Given the description of an element on the screen output the (x, y) to click on. 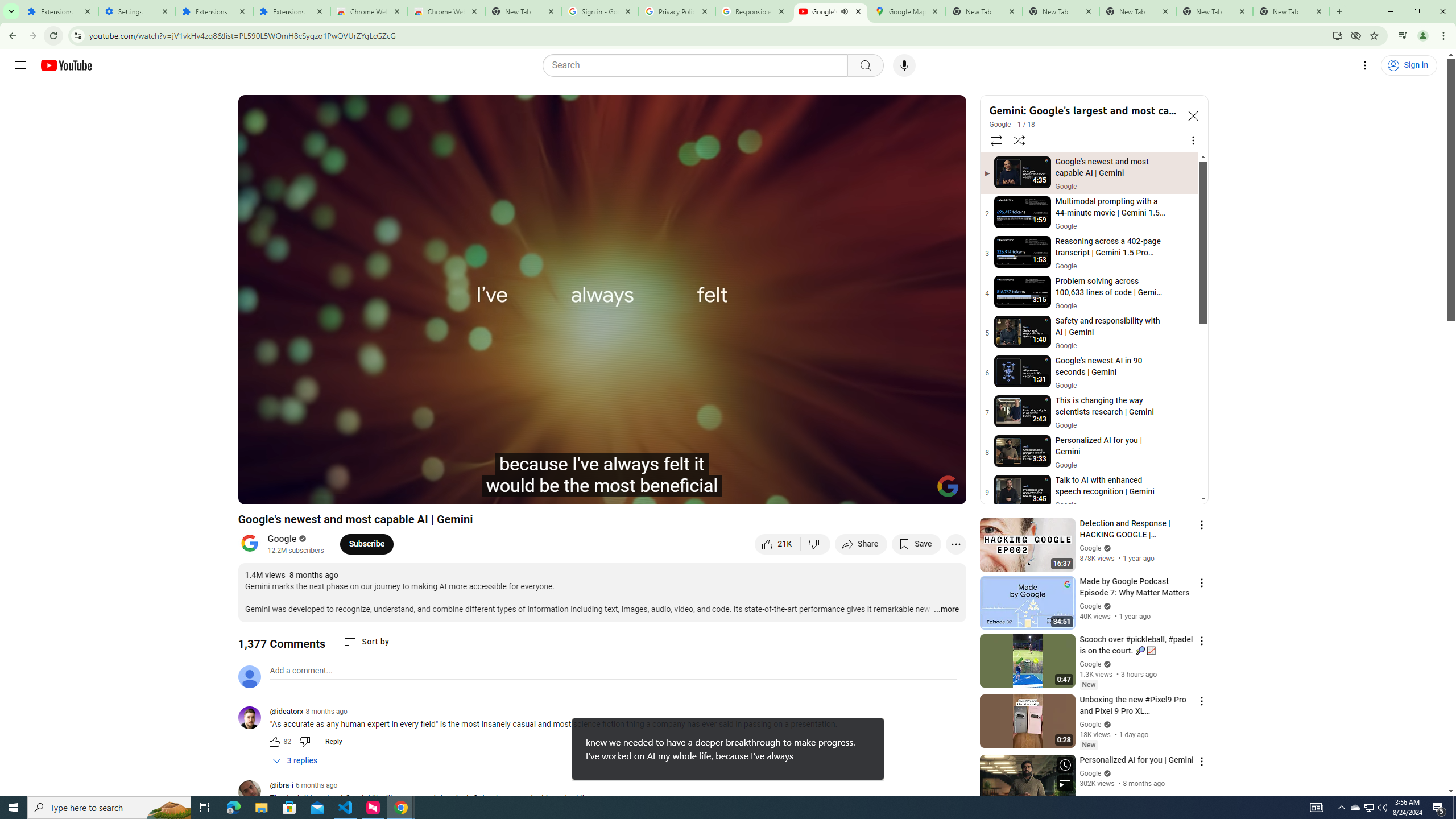
Extensions (59, 11)
8 months ago (326, 710)
More actions (955, 543)
3 replies (295, 761)
Next (SHIFT+n) (310, 490)
Search with your voice (903, 65)
Extensions (213, 11)
Subtitles/closed captions unavailable (836, 490)
Mute (m) (338, 490)
